Given the description of an element on the screen output the (x, y) to click on. 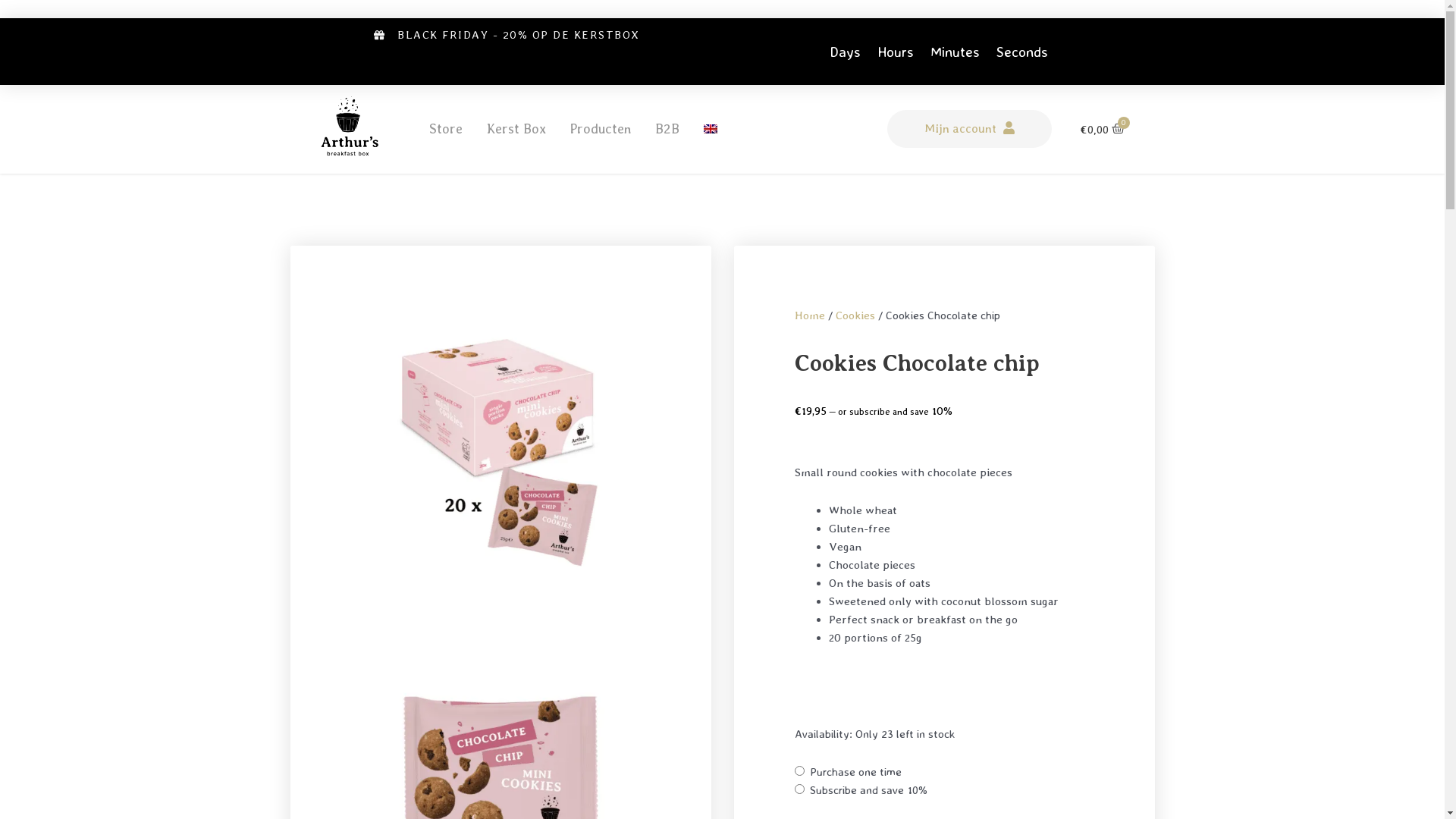
BLACK FRIDAY - 20% OP DE KERSTBOX Element type: text (506, 34)
chocolate chip cookies Element type: hover (499, 432)
Mijn account Element type: text (969, 128)
Store Element type: text (445, 128)
Home Element type: text (809, 315)
B2B Element type: text (667, 128)
Producten Element type: text (600, 128)
Cookies Element type: text (855, 315)
Kerst Box Element type: text (516, 128)
